Given the description of an element on the screen output the (x, y) to click on. 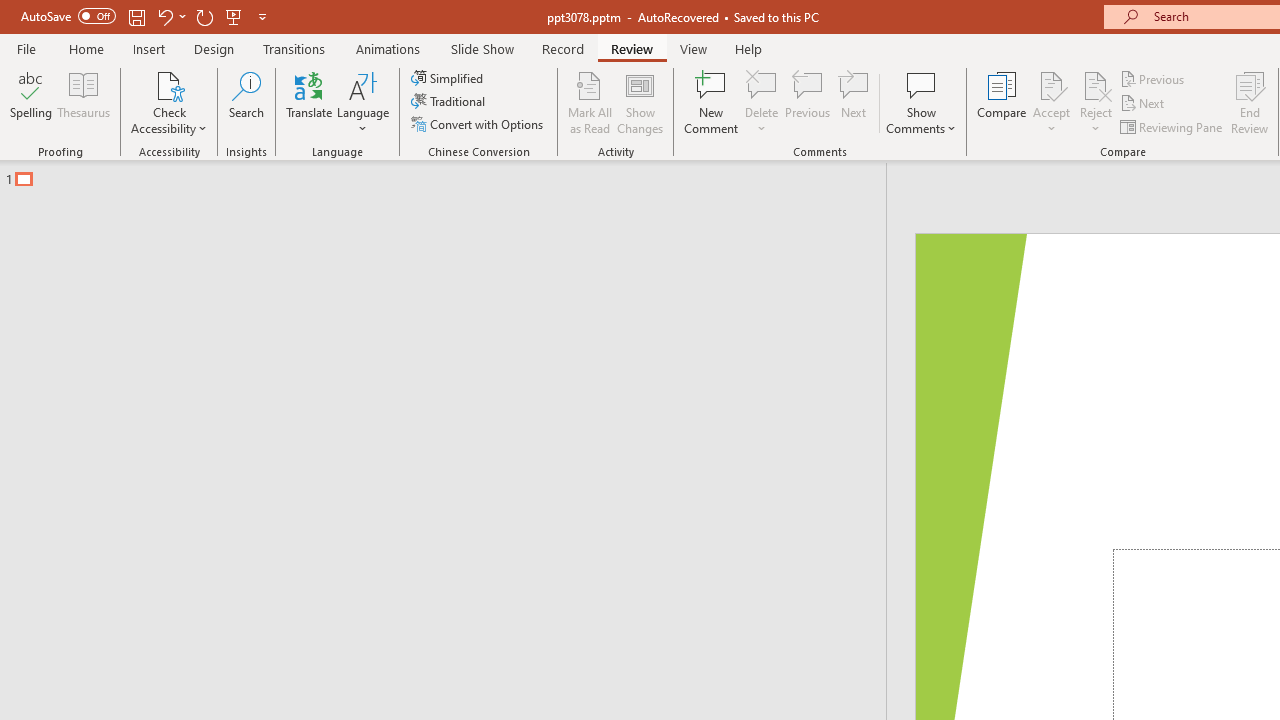
Previous (1153, 78)
Accept (1051, 102)
Compare (1002, 102)
New Comment (711, 102)
